Given the description of an element on the screen output the (x, y) to click on. 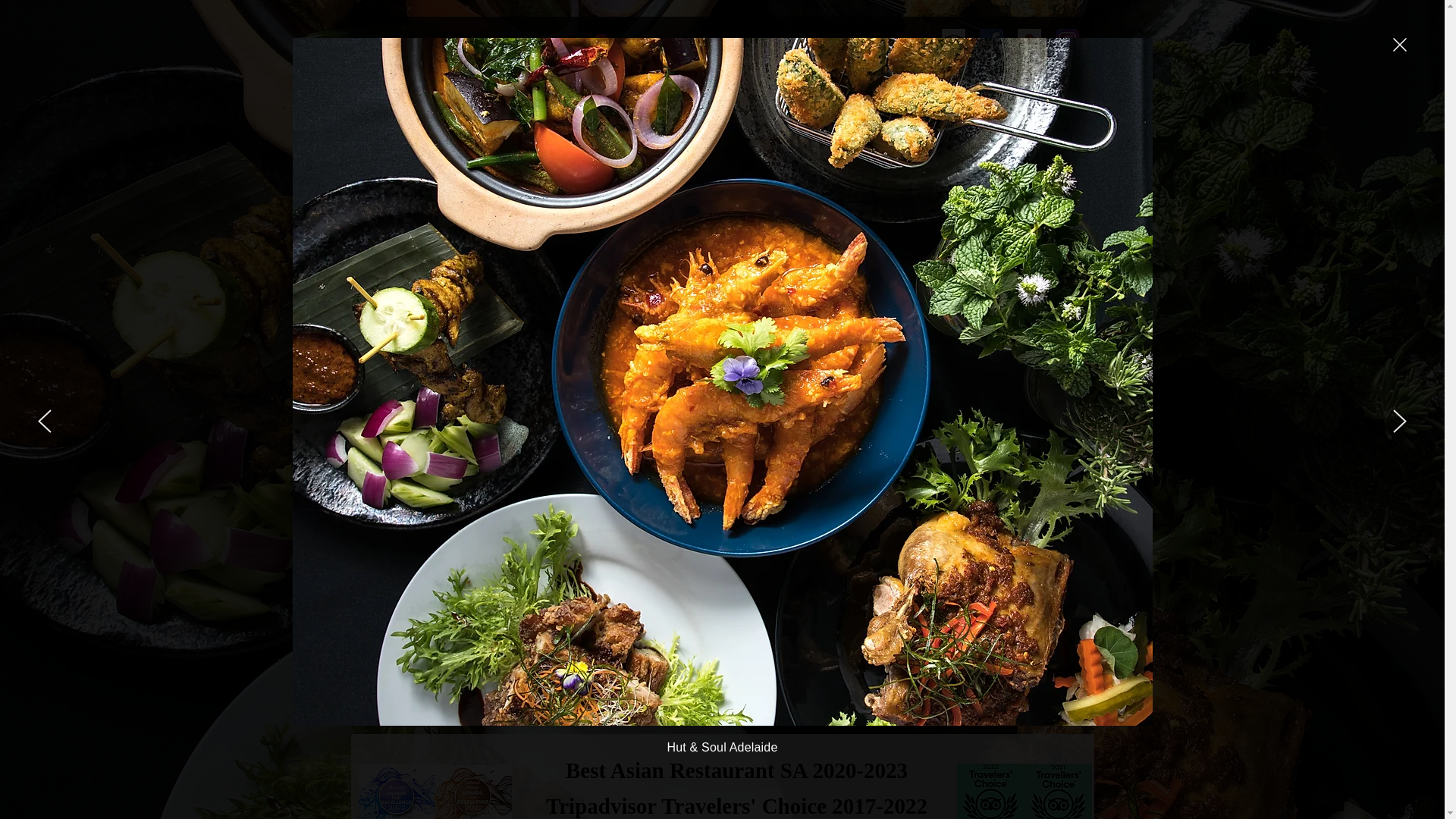
Drink Element type: text (524, 555)
Menu Element type: text (727, 555)
Book Element type: text (932, 555)
